Given the description of an element on the screen output the (x, y) to click on. 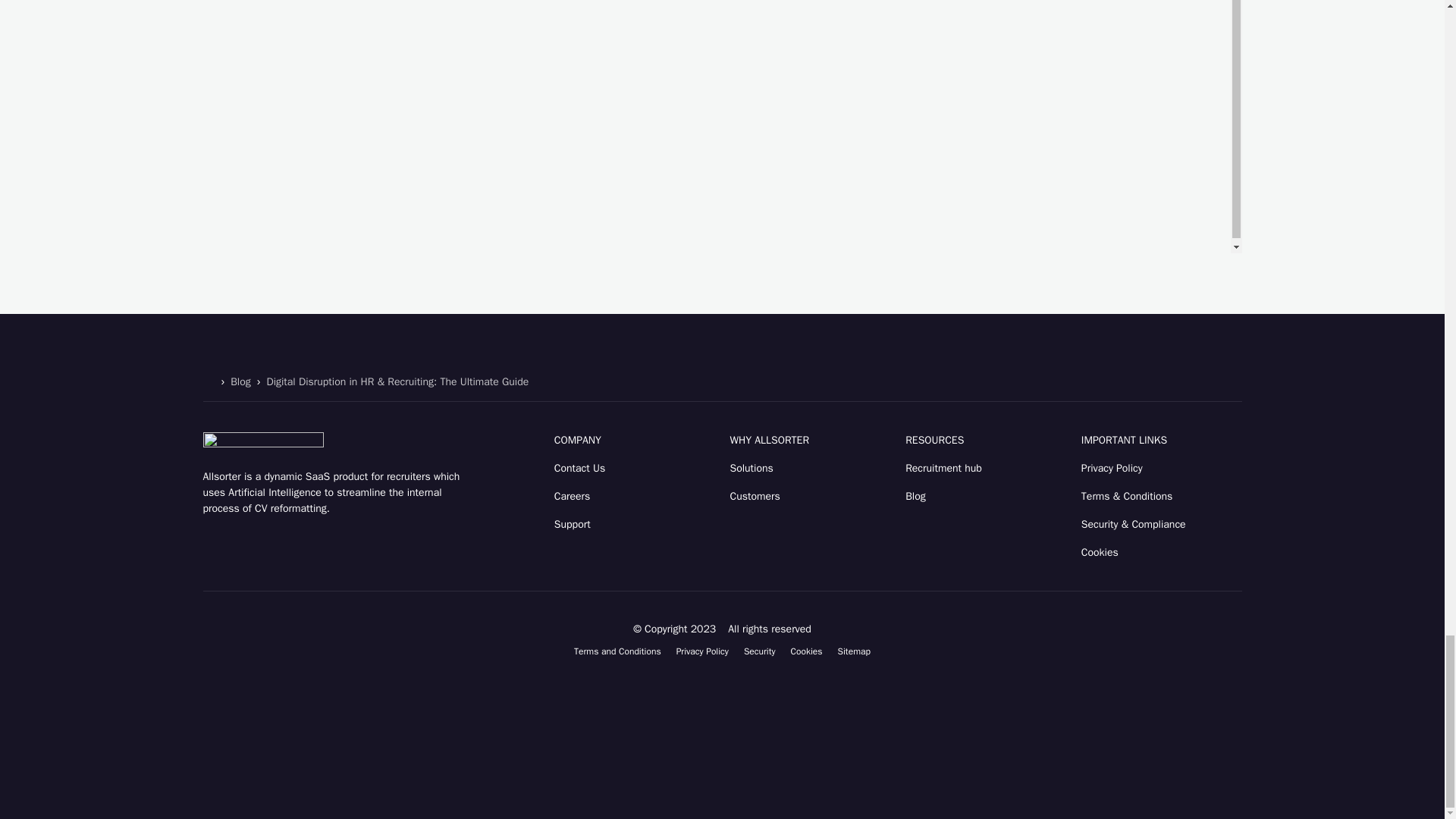
How to compete and win in times of disruption (320, 126)
